Given the description of an element on the screen output the (x, y) to click on. 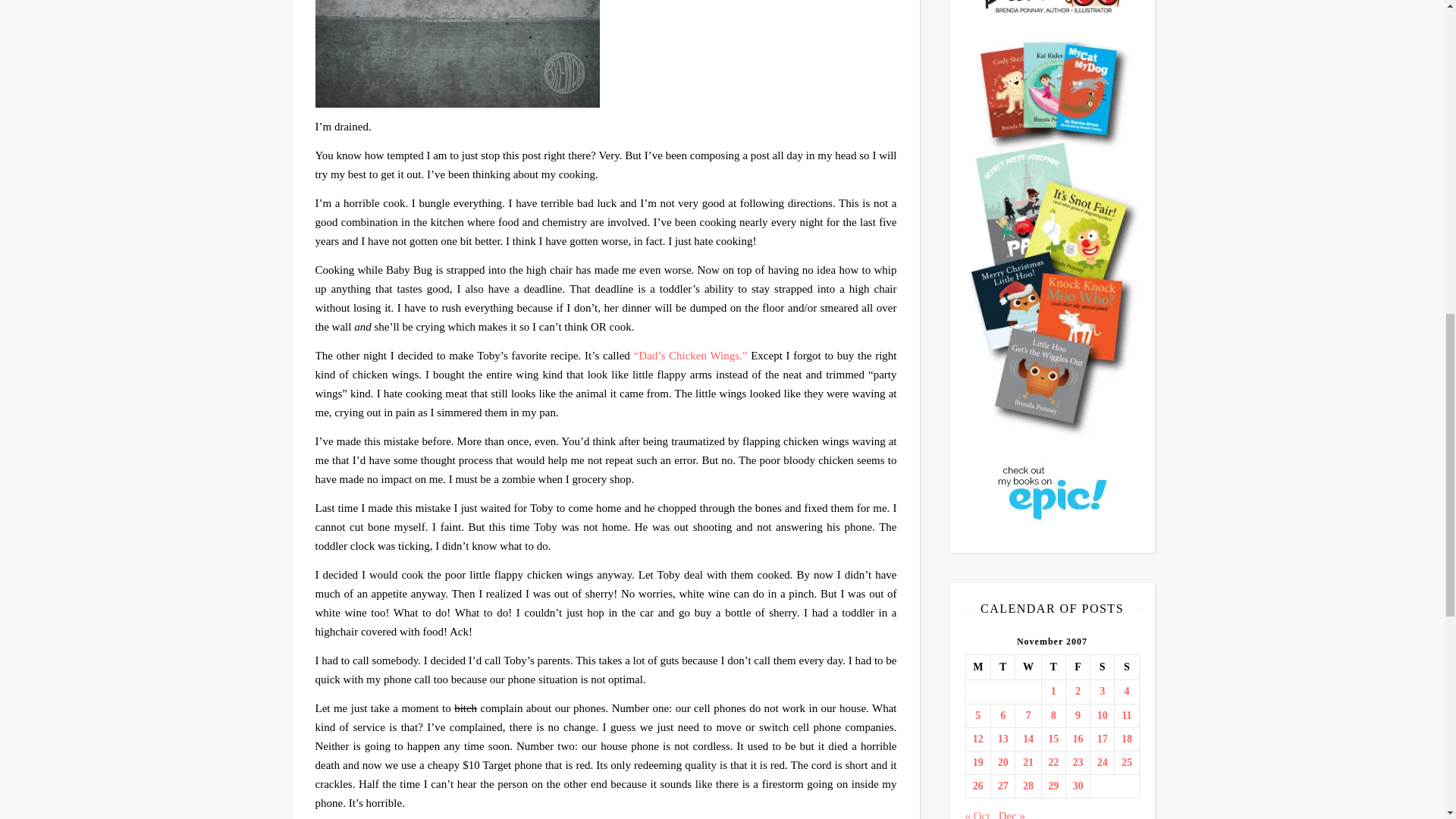
Monday (978, 667)
1 (1052, 691)
6 (1002, 715)
3 (1102, 691)
drains to bay by secret agent josephine, on Flickr (605, 53)
2 (1077, 691)
Sunday (1126, 667)
Saturday (1102, 667)
5 (978, 715)
7 (1027, 715)
8 (1052, 715)
Wednesday (1027, 667)
Friday (1077, 667)
Thursday (1053, 667)
Tuesday (1002, 667)
